Given the description of an element on the screen output the (x, y) to click on. 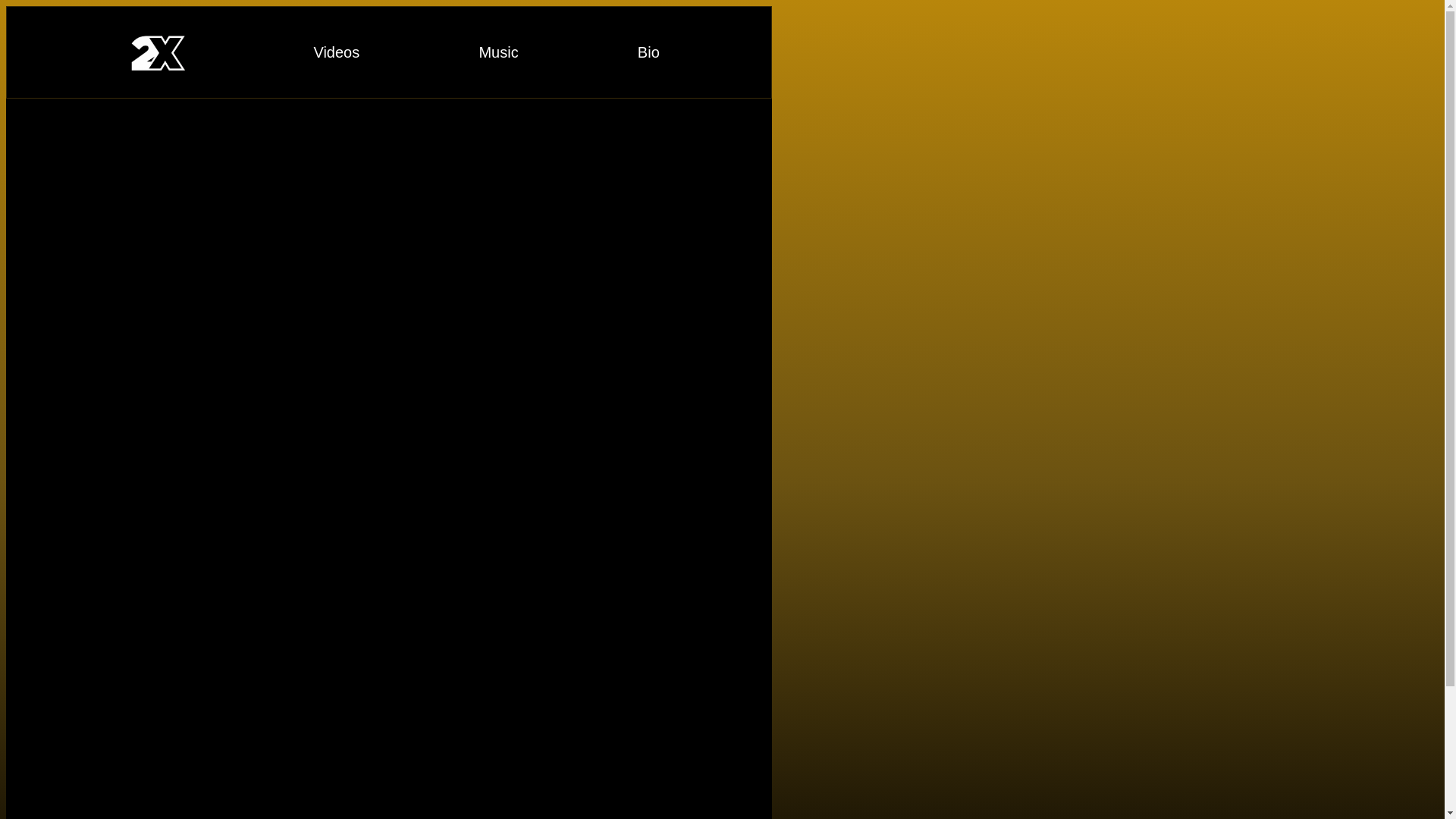
Music Element type: text (497, 52)
Bio Element type: text (648, 52)
Videos Element type: text (336, 52)
Home Element type: hover (155, 51)
